Given the description of an element on the screen output the (x, y) to click on. 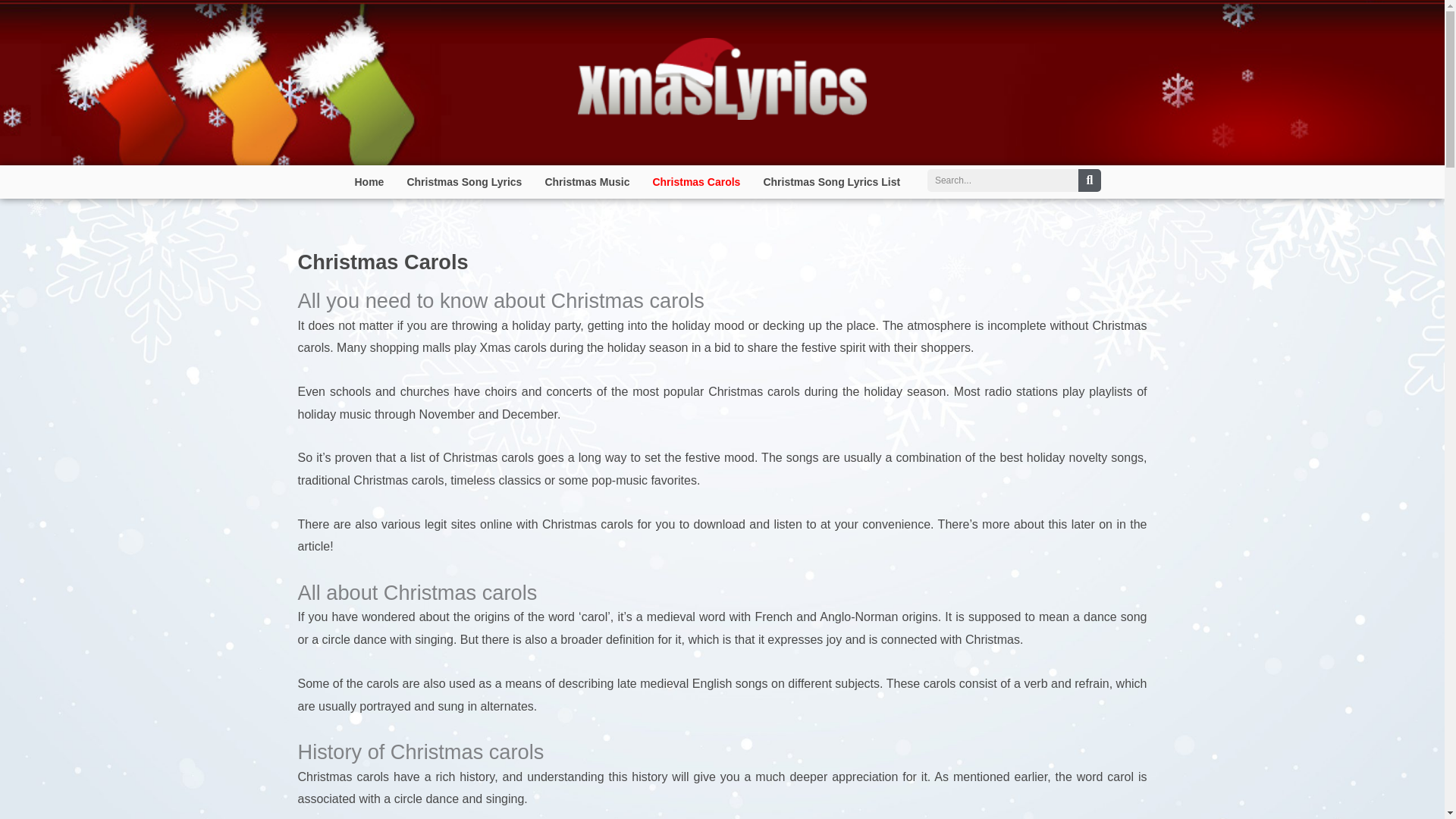
Christmas Song Lyrics (463, 182)
Christmas Music (586, 182)
Christmas Song Lyrics List (831, 182)
Home (368, 182)
Christmas Carols (695, 182)
